Given the description of an element on the screen output the (x, y) to click on. 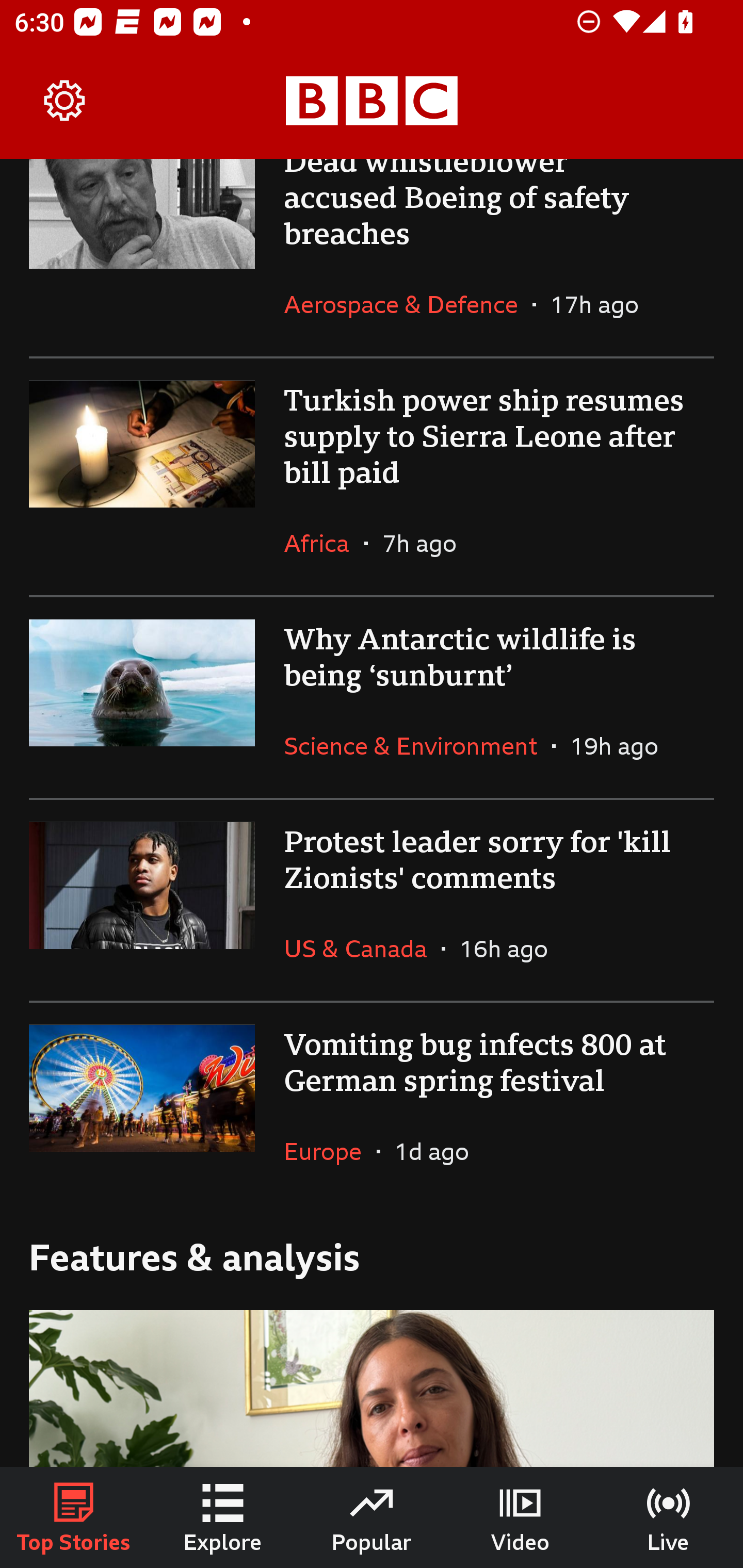
Settings (64, 100)
Africa In the section Africa (323, 542)
US & Canada In the section US & Canada (362, 948)
Europe In the section Europe (329, 1150)
Explore (222, 1517)
Popular (371, 1517)
Video (519, 1517)
Live (668, 1517)
